Given the description of an element on the screen output the (x, y) to click on. 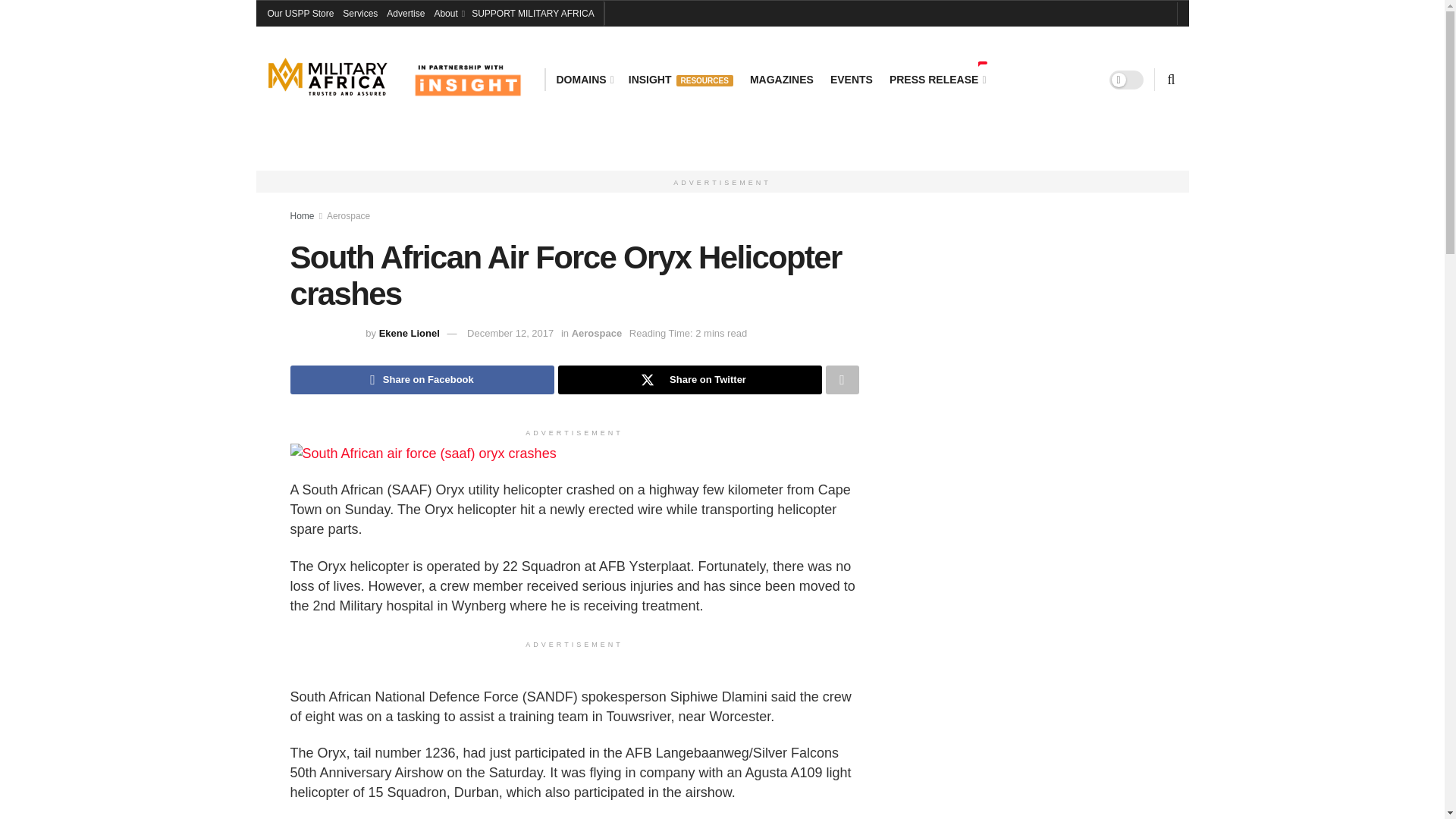
DMCA.com Protection Status (968, 501)
MAGAZINES (781, 79)
Services (359, 13)
DOMAINS (583, 79)
INSIGHTRESOURCES (680, 79)
Advertise (406, 13)
Our USPP Store (299, 13)
About (448, 13)
PRESS RELEASE (936, 79)
EVENTS (850, 79)
